Given the description of an element on the screen output the (x, y) to click on. 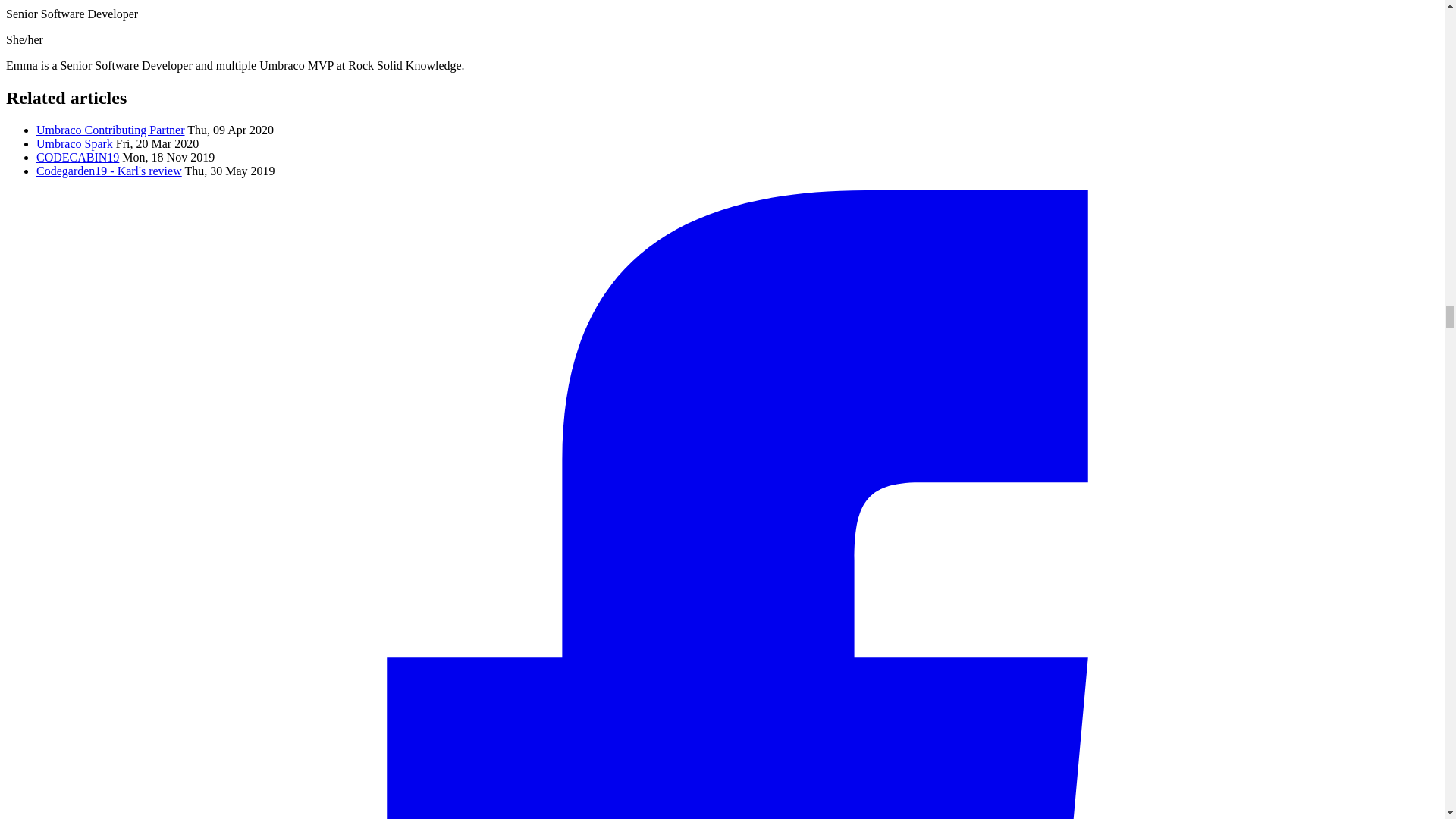
Umbraco Contributing Partner (110, 129)
Umbraco Spark (74, 143)
Codegarden19 - Karl's review (109, 170)
CODECABIN19 (77, 156)
